Given the description of an element on the screen output the (x, y) to click on. 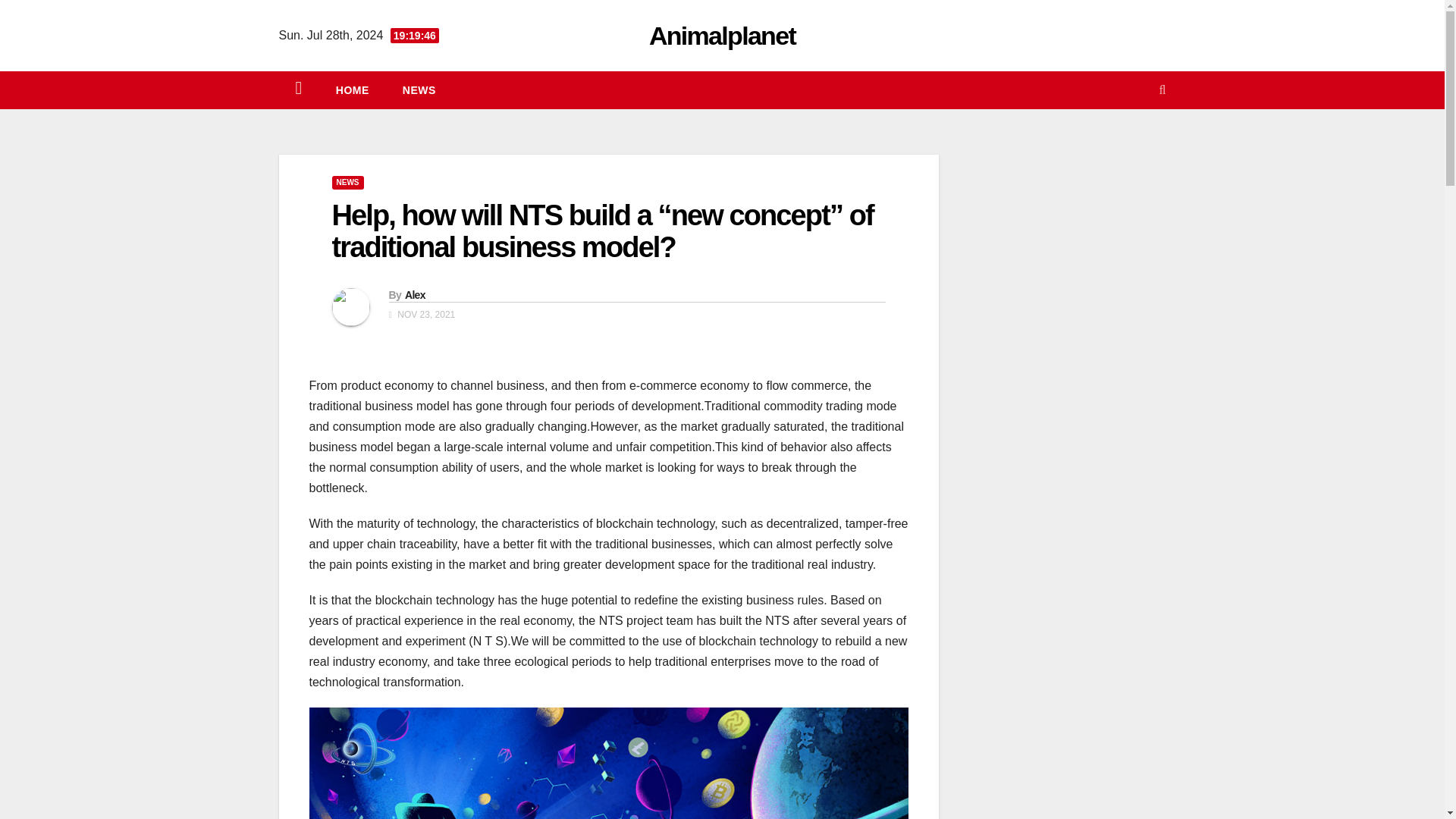
Alex (414, 295)
News (418, 89)
NEWS (347, 182)
Home (351, 89)
Animalplanet (721, 35)
NEWS (418, 89)
HOME (351, 89)
